Given the description of an element on the screen output the (x, y) to click on. 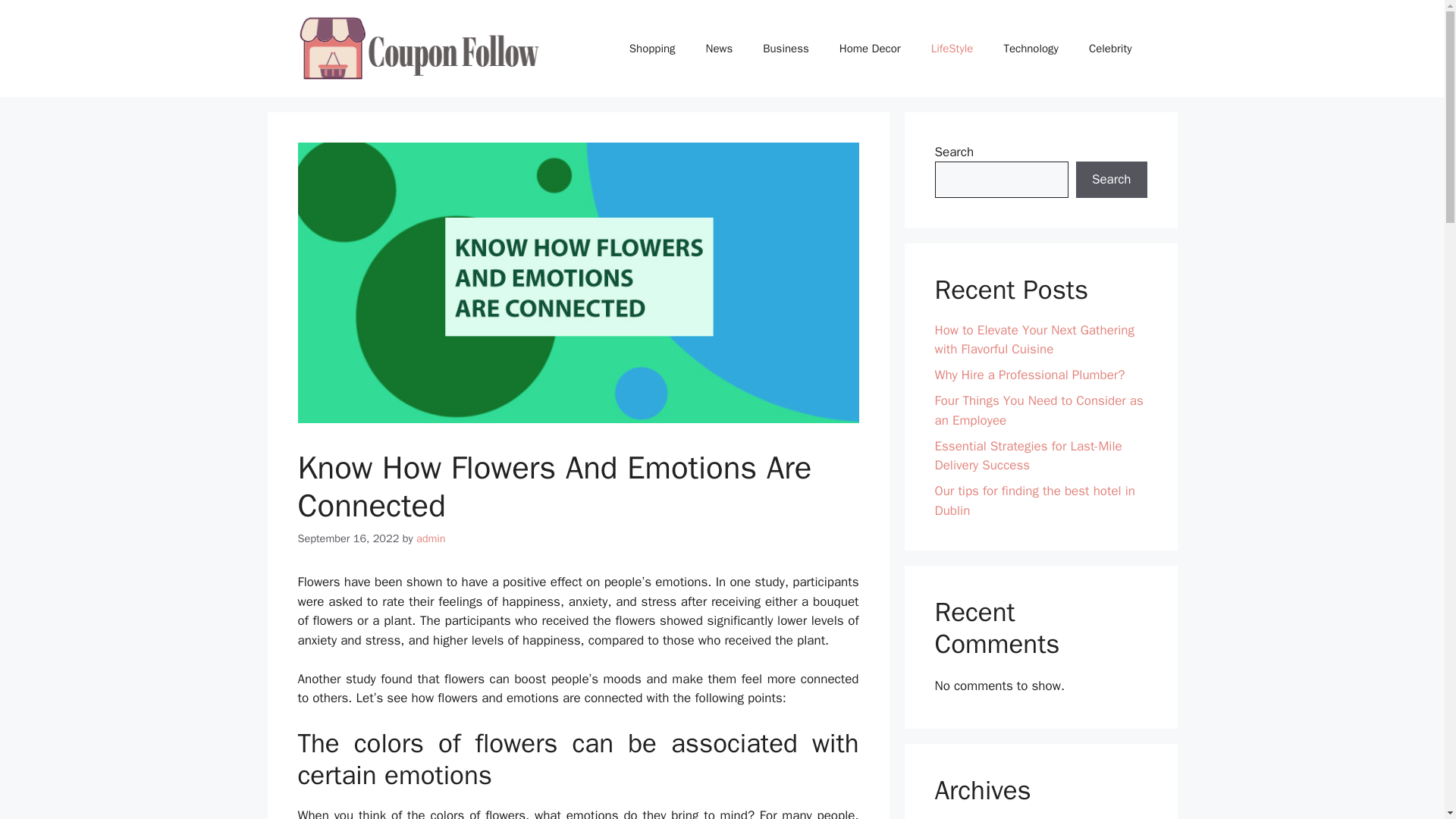
Home Decor (869, 48)
LifeStyle (951, 48)
Why Hire a Professional Plumber? (1029, 374)
Technology (1031, 48)
Search (1111, 179)
admin (430, 538)
Business (786, 48)
Shopping (652, 48)
Essential Strategies for Last-Mile Delivery Success (1027, 456)
Four Things You Need to Consider as an Employee (1038, 410)
